Given the description of an element on the screen output the (x, y) to click on. 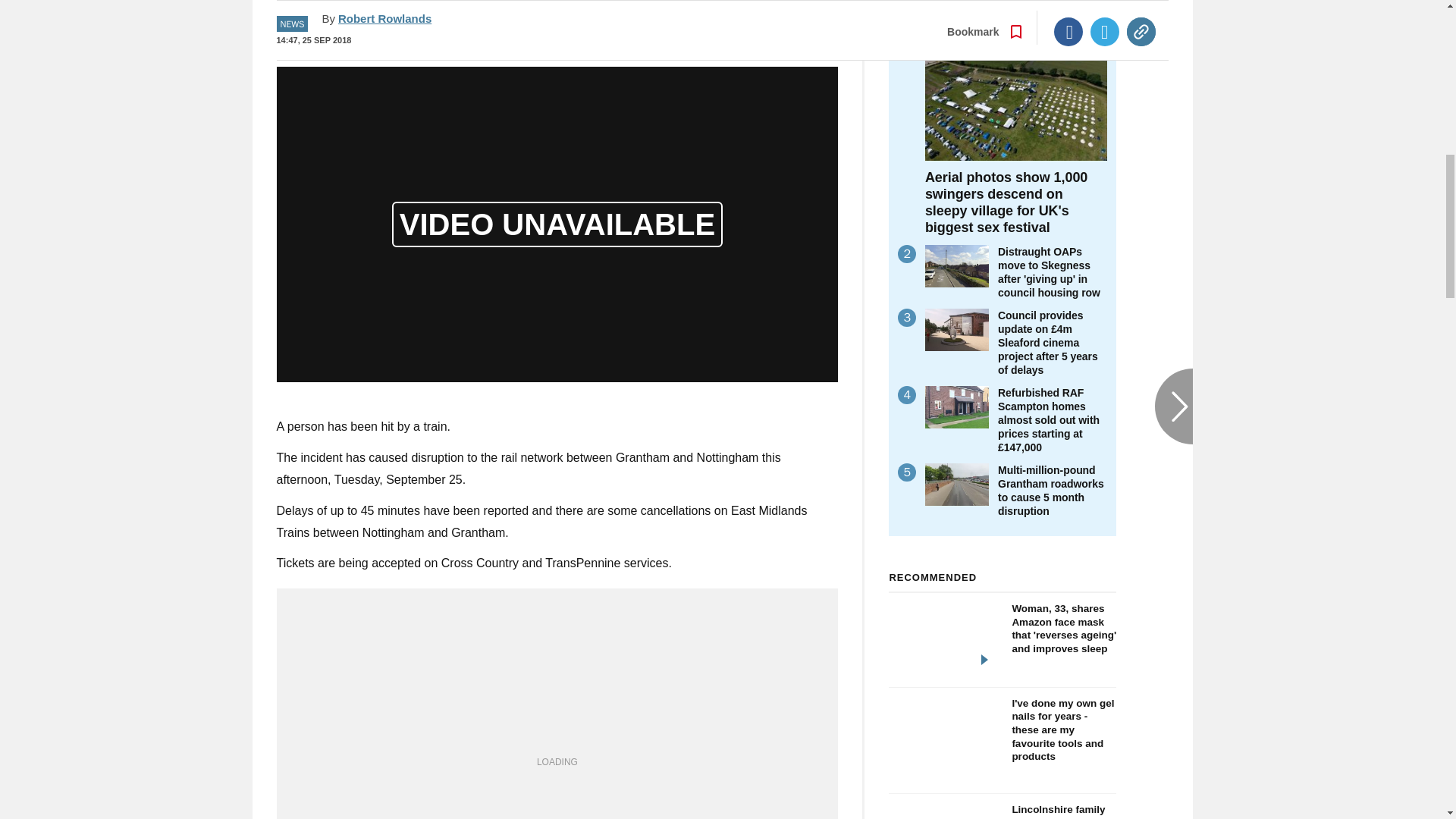
Go (730, 17)
